Given the description of an element on the screen output the (x, y) to click on. 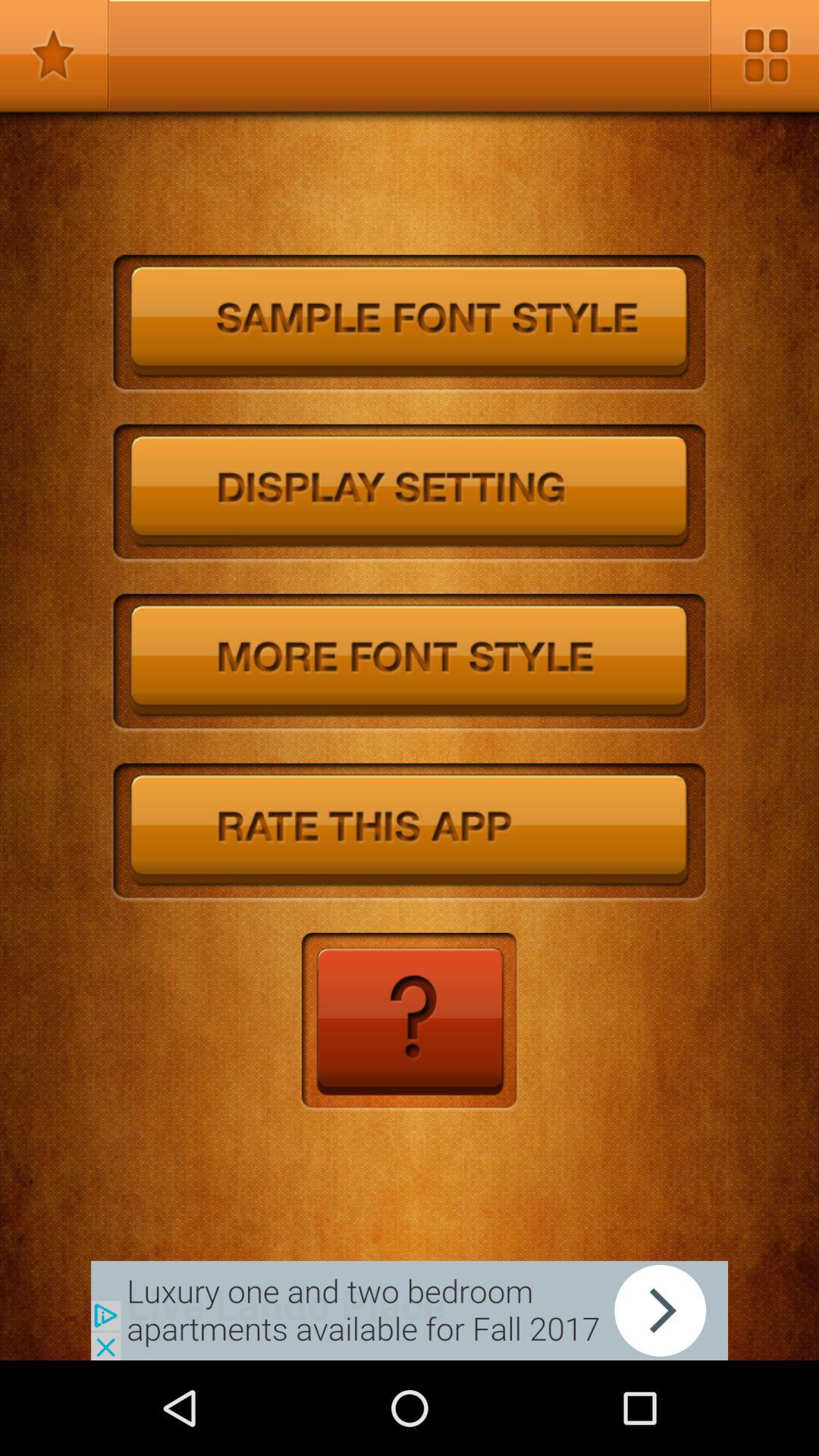
rating option (409, 832)
